Given the description of an element on the screen output the (x, y) to click on. 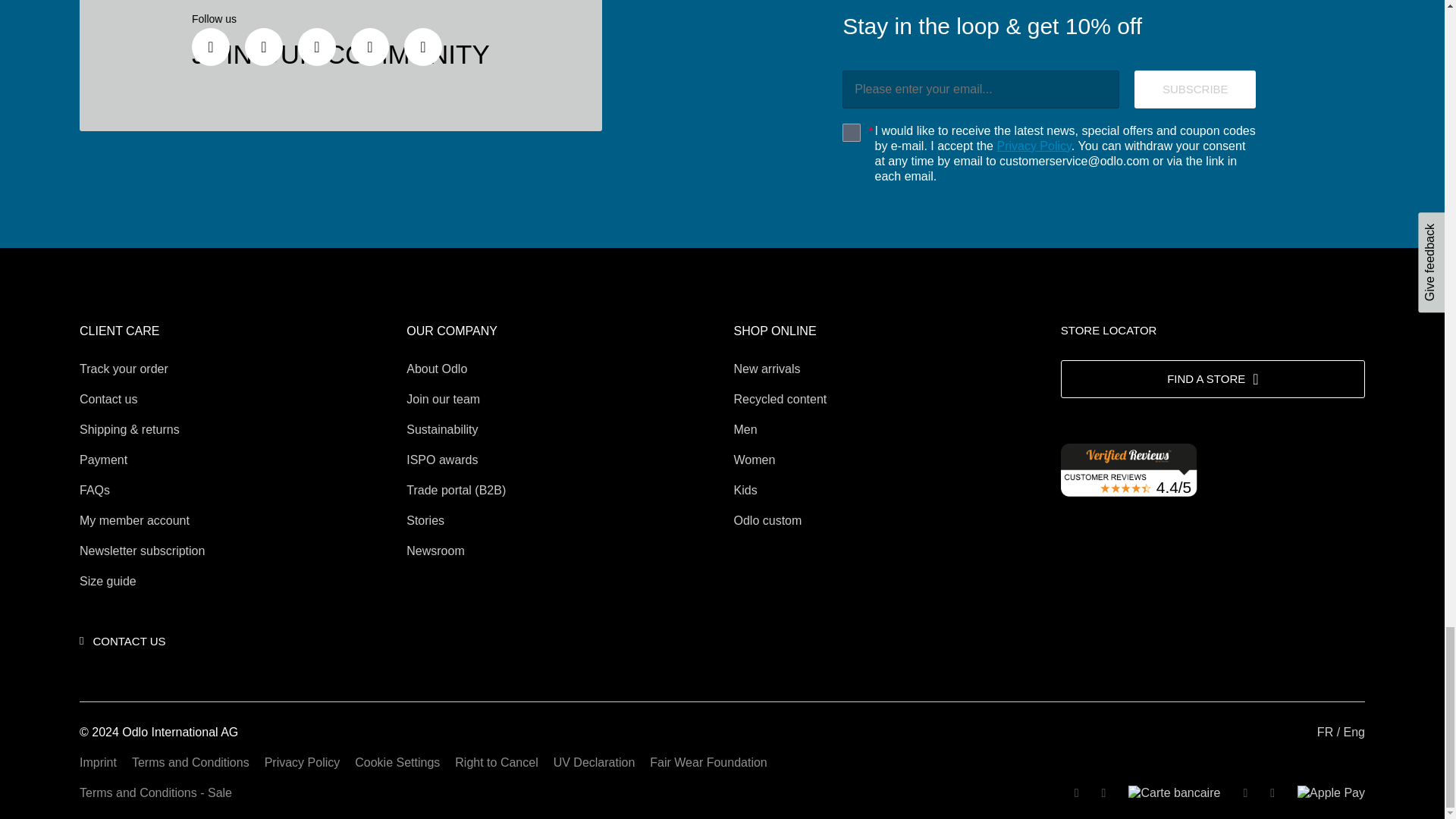
Size guide (108, 581)
Terms and Conditions (190, 762)
Odlo custom (767, 520)
Kids (745, 490)
Imprint (98, 762)
Privacy Policy (1032, 145)
